Given the description of an element on the screen output the (x, y) to click on. 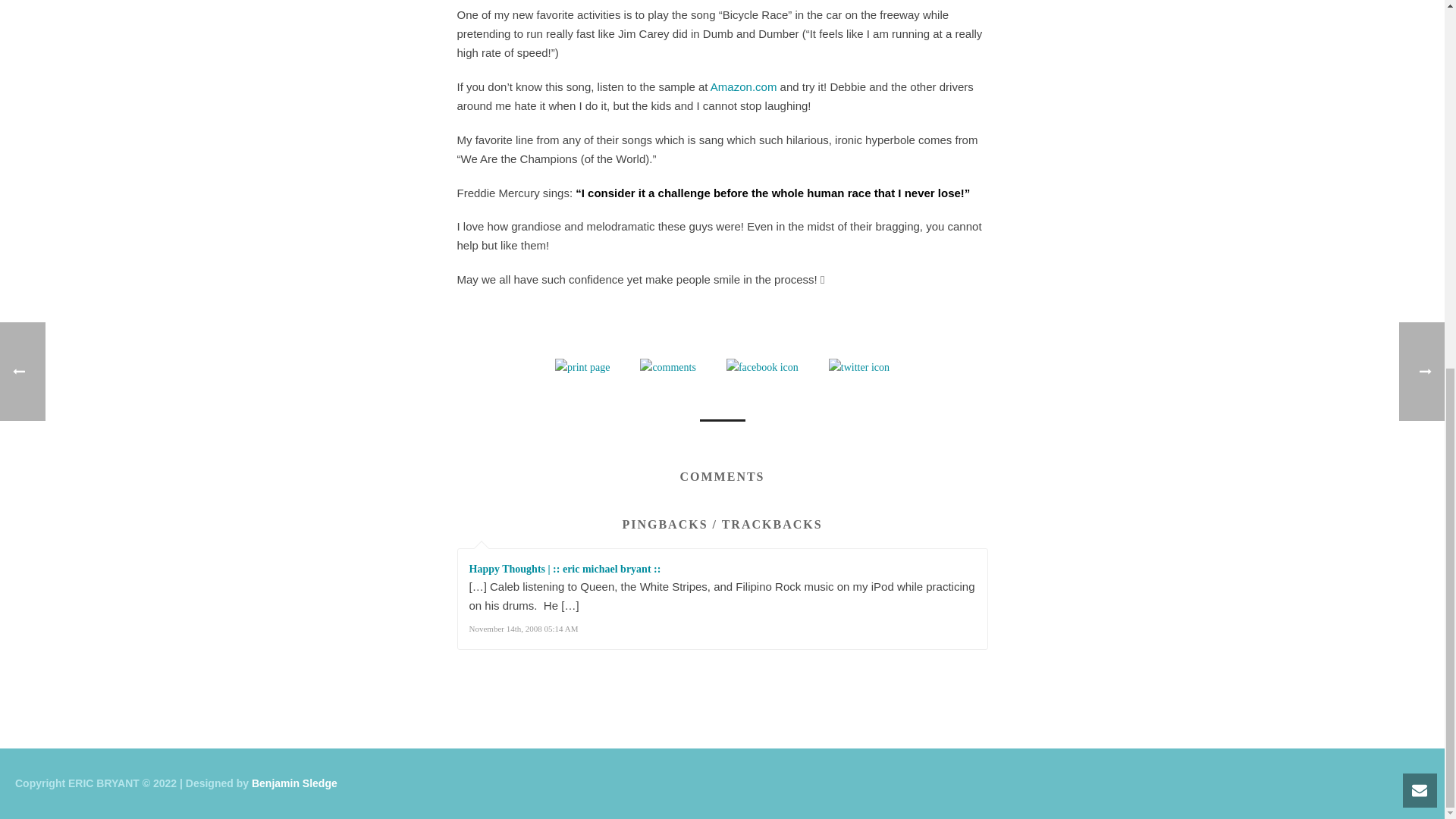
Benjamin Sledge (294, 783)
Print (582, 366)
Amazon.com (743, 86)
